Given the description of an element on the screen output the (x, y) to click on. 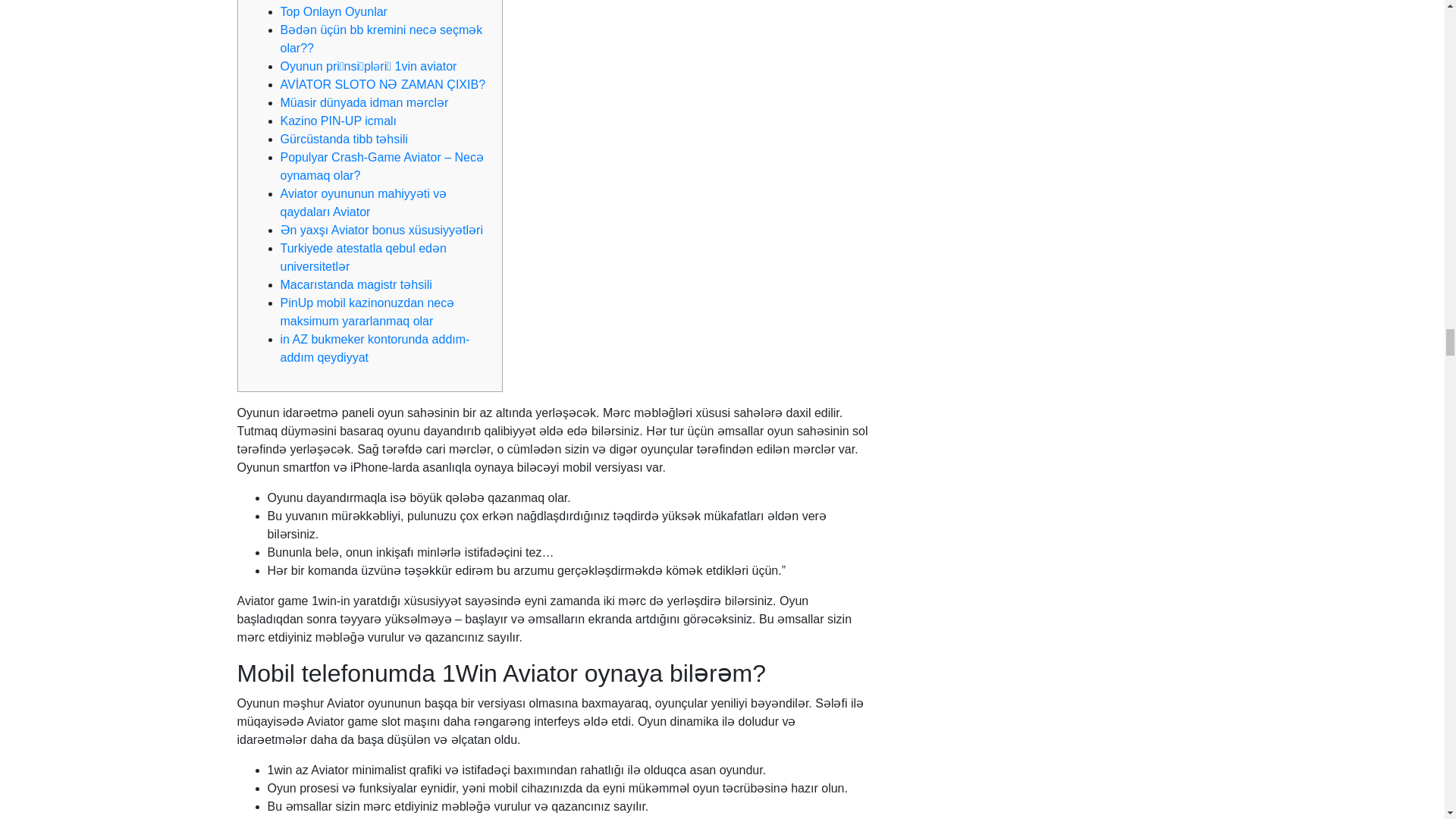
Top Onlayn Oyunlar (334, 11)
